Given the description of an element on the screen output the (x, y) to click on. 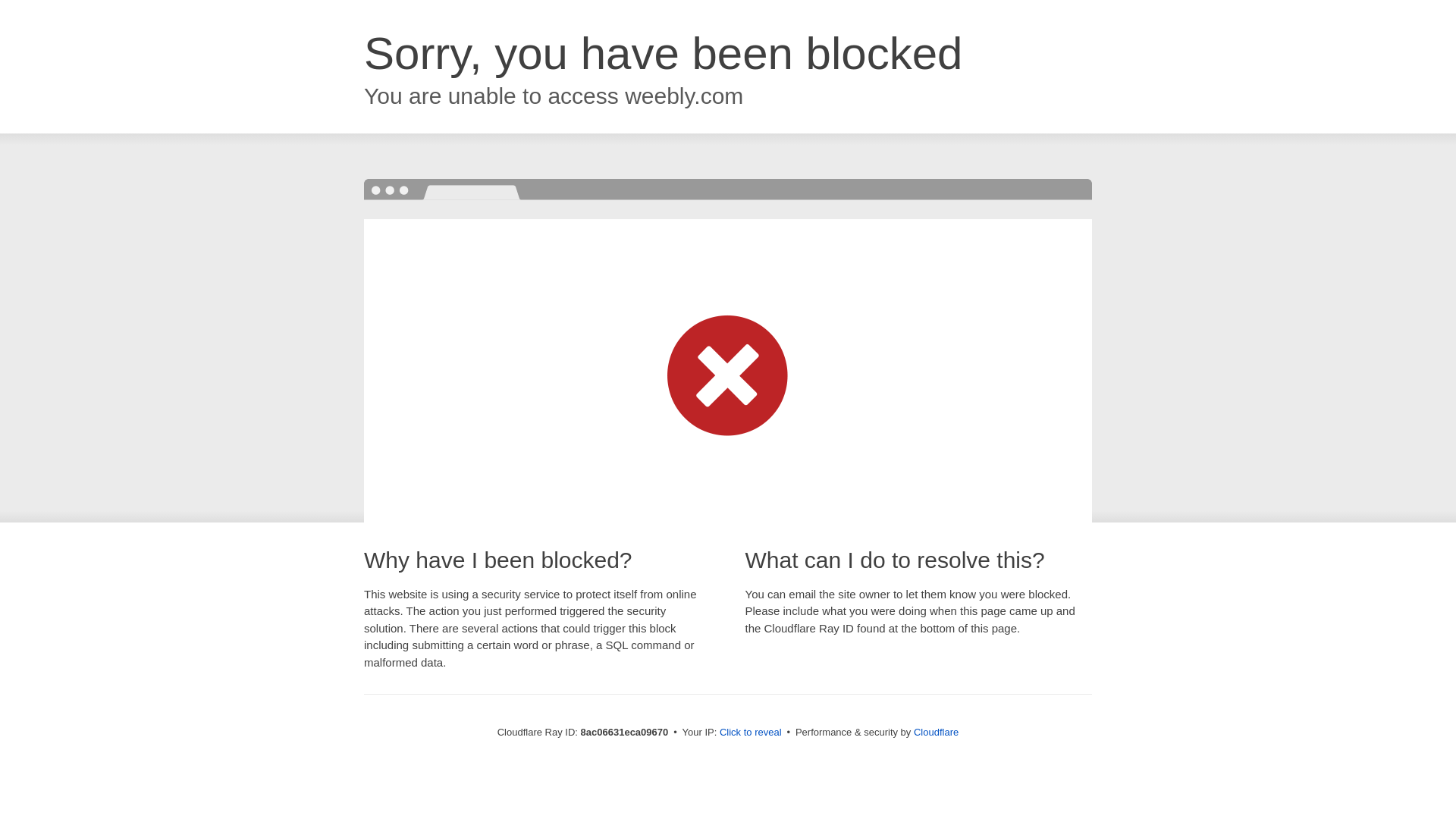
Cloudflare (936, 731)
Click to reveal (750, 732)
